Given the description of an element on the screen output the (x, y) to click on. 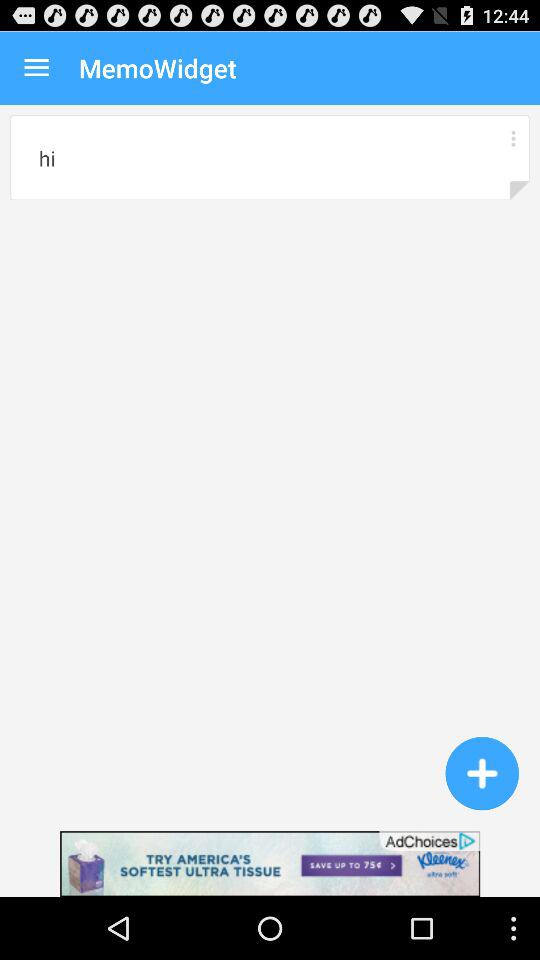
view options (512, 138)
